Given the description of an element on the screen output the (x, y) to click on. 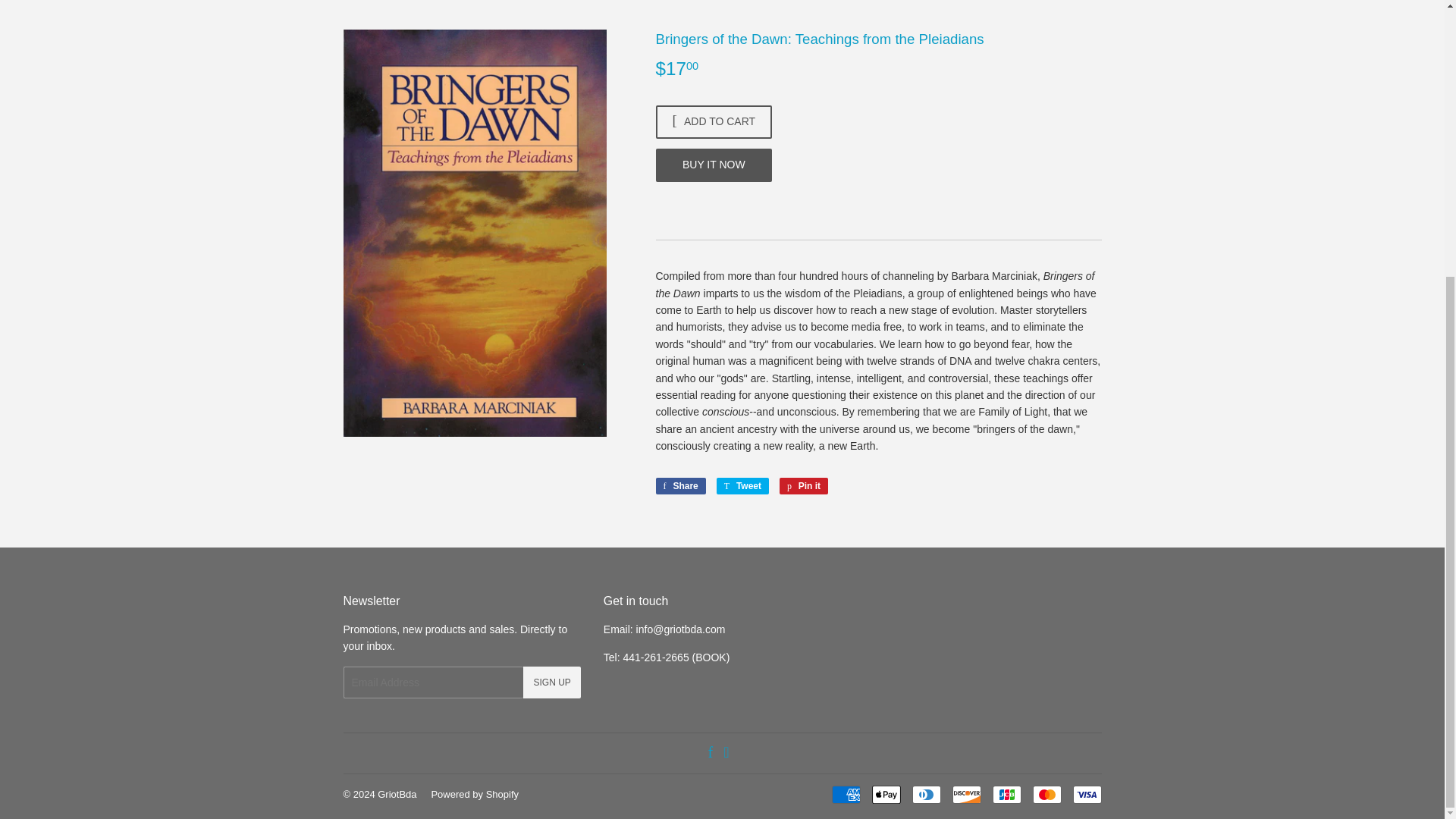
American Express (845, 794)
Discover (966, 794)
Mastercard (1046, 794)
Tweet on Twitter (742, 485)
Share on Facebook (679, 485)
Apple Pay (886, 794)
GriotBda on Instagram (726, 753)
Diners Club (925, 794)
Pin on Pinterest (803, 485)
Visa (1085, 794)
JCB (1005, 794)
GriotBda on Facebook (710, 753)
